Given the description of an element on the screen output the (x, y) to click on. 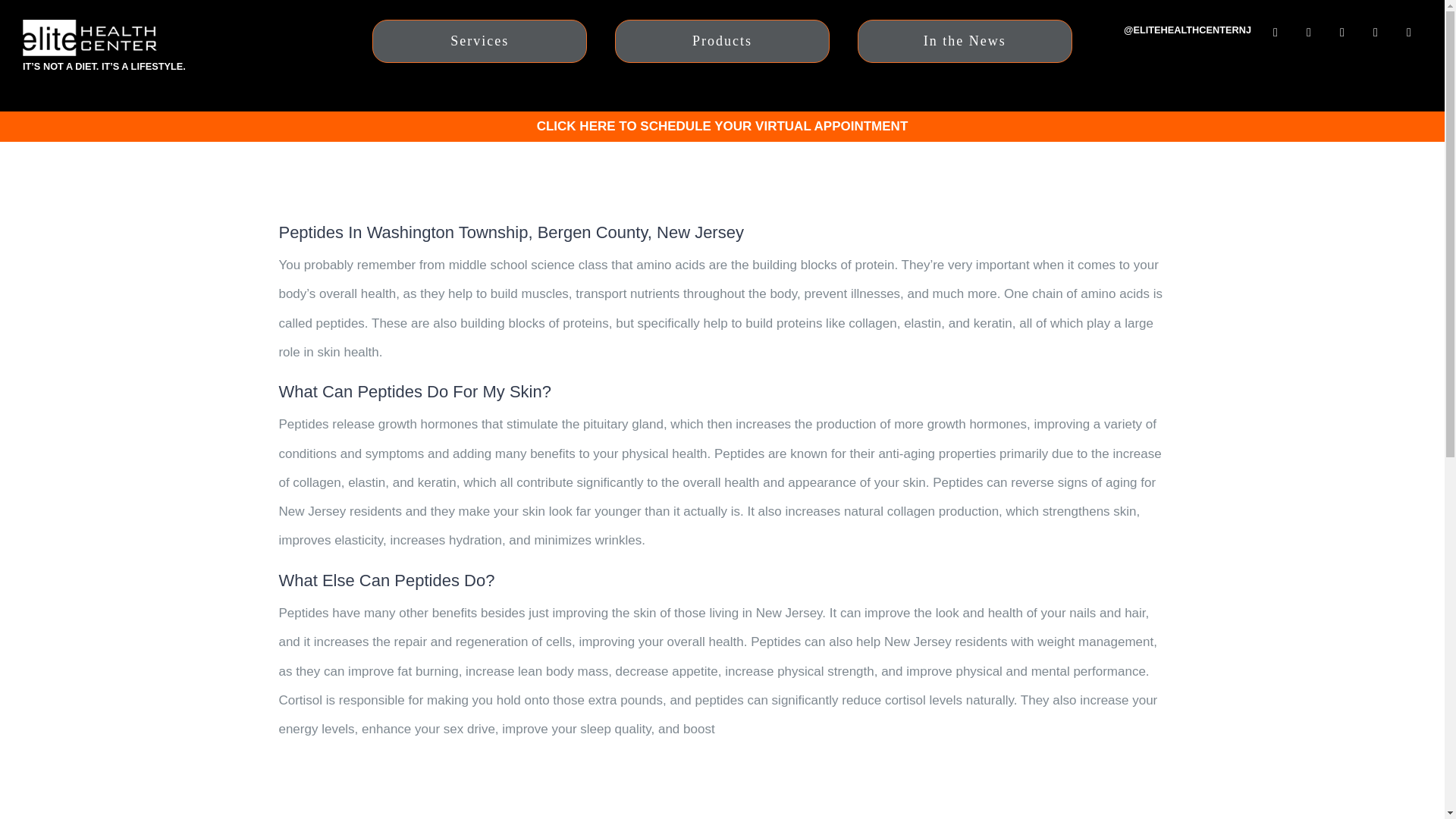
Products (721, 41)
Twitter (1308, 32)
Instagram (1342, 32)
Services (479, 41)
CLICK HERE TO SCHEDULE YOUR VIRTUAL APPOINTMENT (722, 125)
In the News (964, 41)
mainlogo (90, 37)
Email (1375, 32)
Facebook (1275, 32)
Phone (1409, 32)
